Given the description of an element on the screen output the (x, y) to click on. 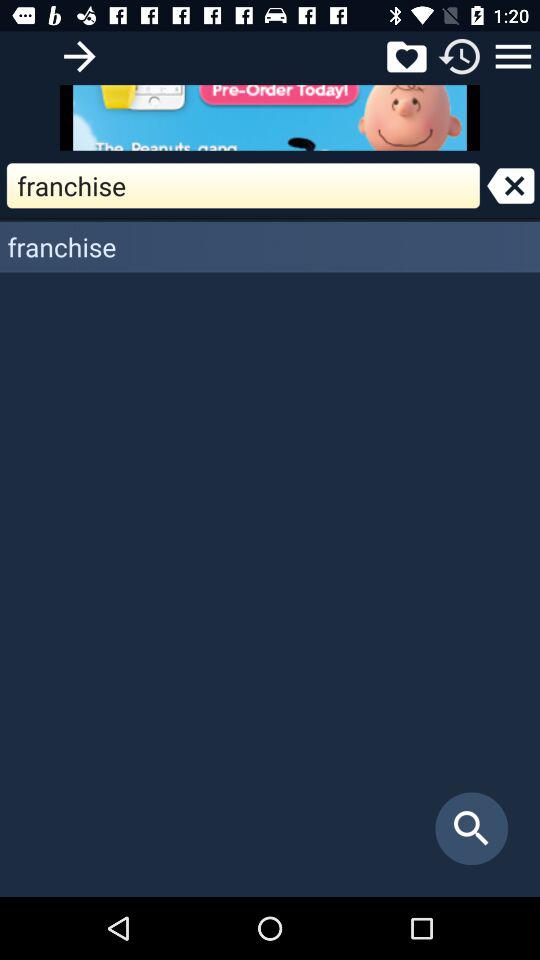
update (460, 56)
